Given the description of an element on the screen output the (x, y) to click on. 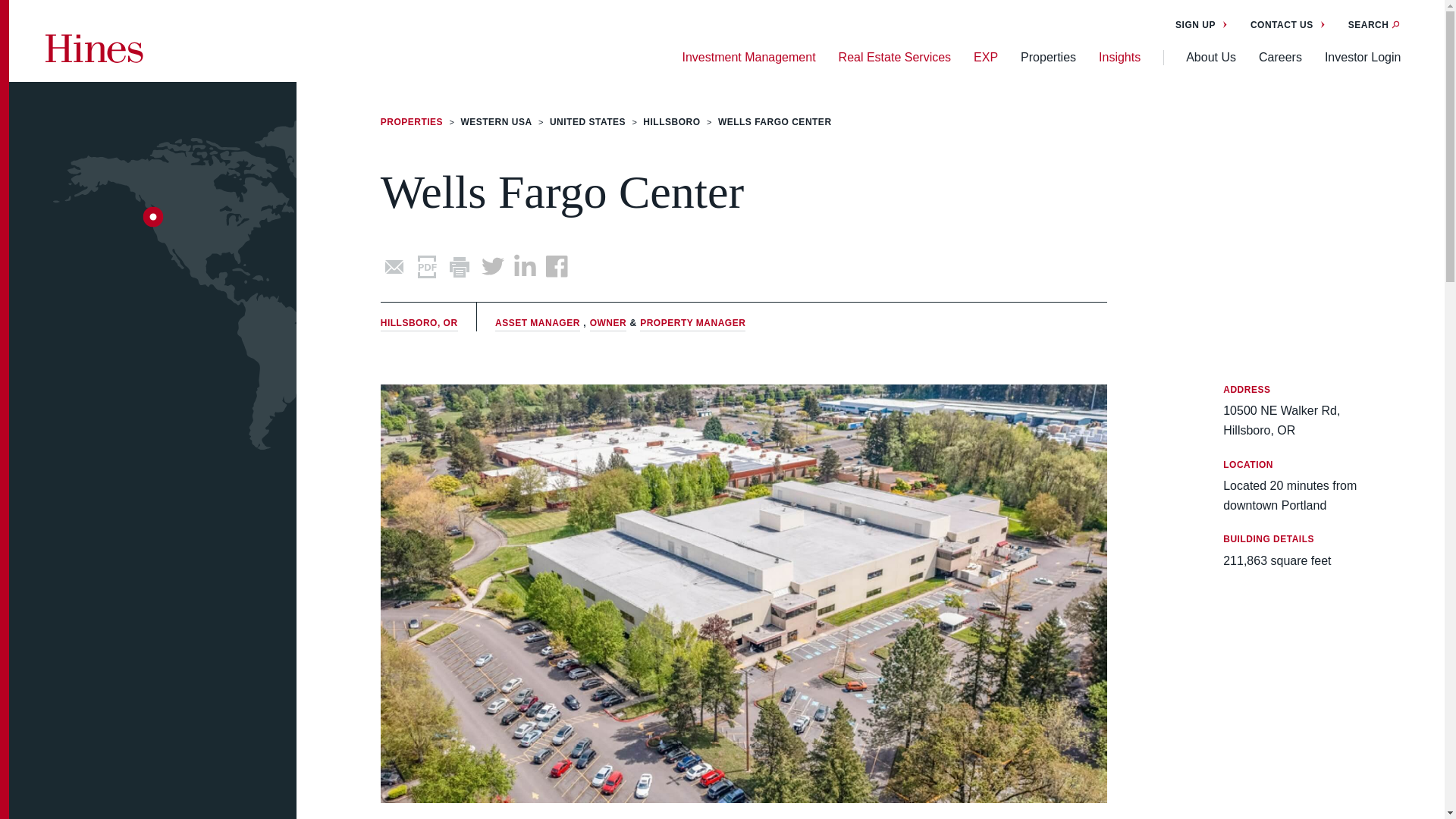
About Us (1211, 57)
Properties (1047, 57)
Investment Management (748, 57)
CONTACT US (1287, 24)
Insights (1119, 57)
SEARCH (1374, 24)
Real Estate Services (895, 57)
SIGN UP (1200, 24)
